Given the description of an element on the screen output the (x, y) to click on. 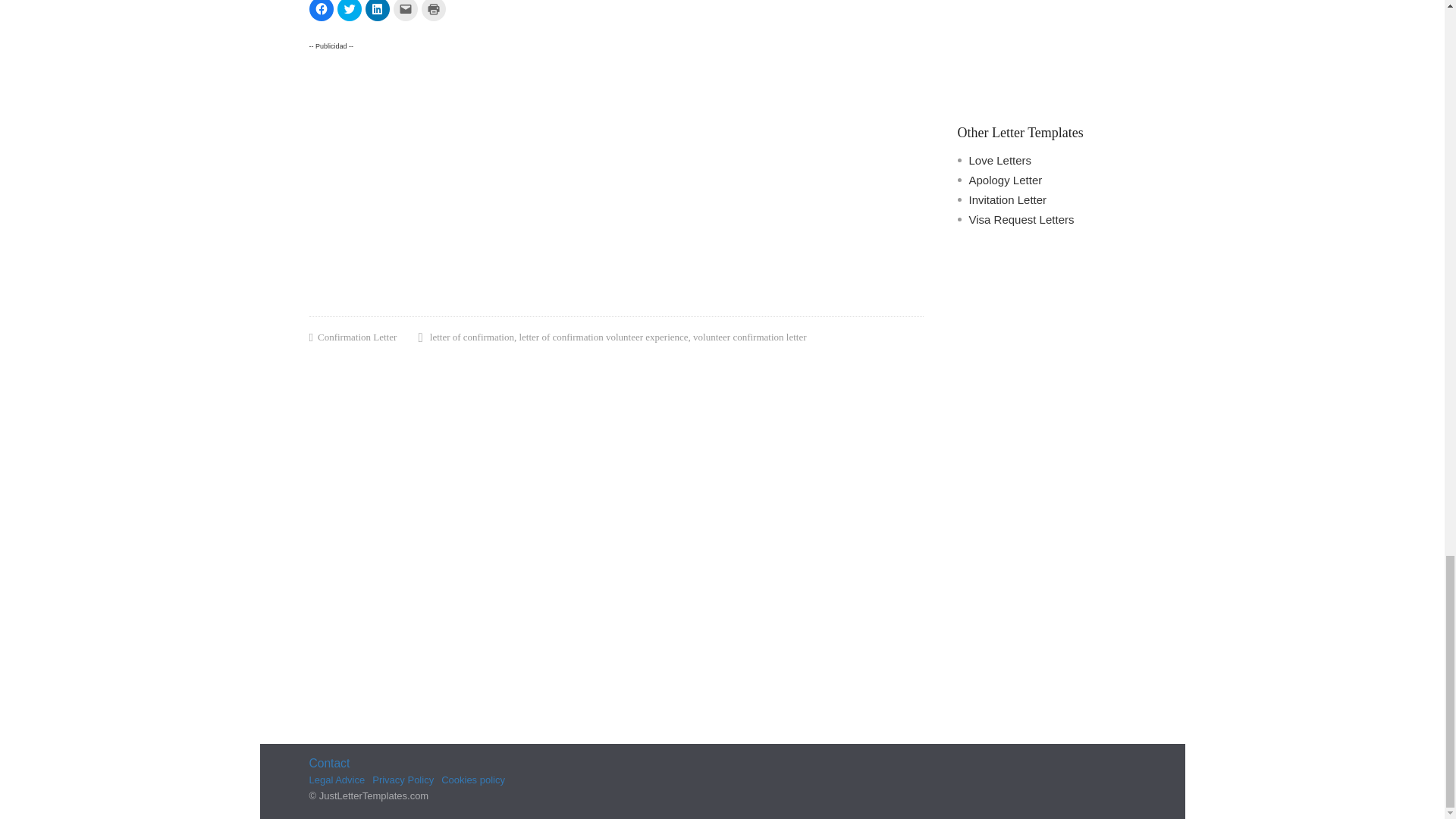
Click to share on Facebook (320, 10)
Confirmation Letter (356, 338)
Click to share on LinkedIn (377, 10)
Click to email a link to a friend (404, 10)
Click to share on Twitter (348, 10)
Click to print (433, 10)
